Given the description of an element on the screen output the (x, y) to click on. 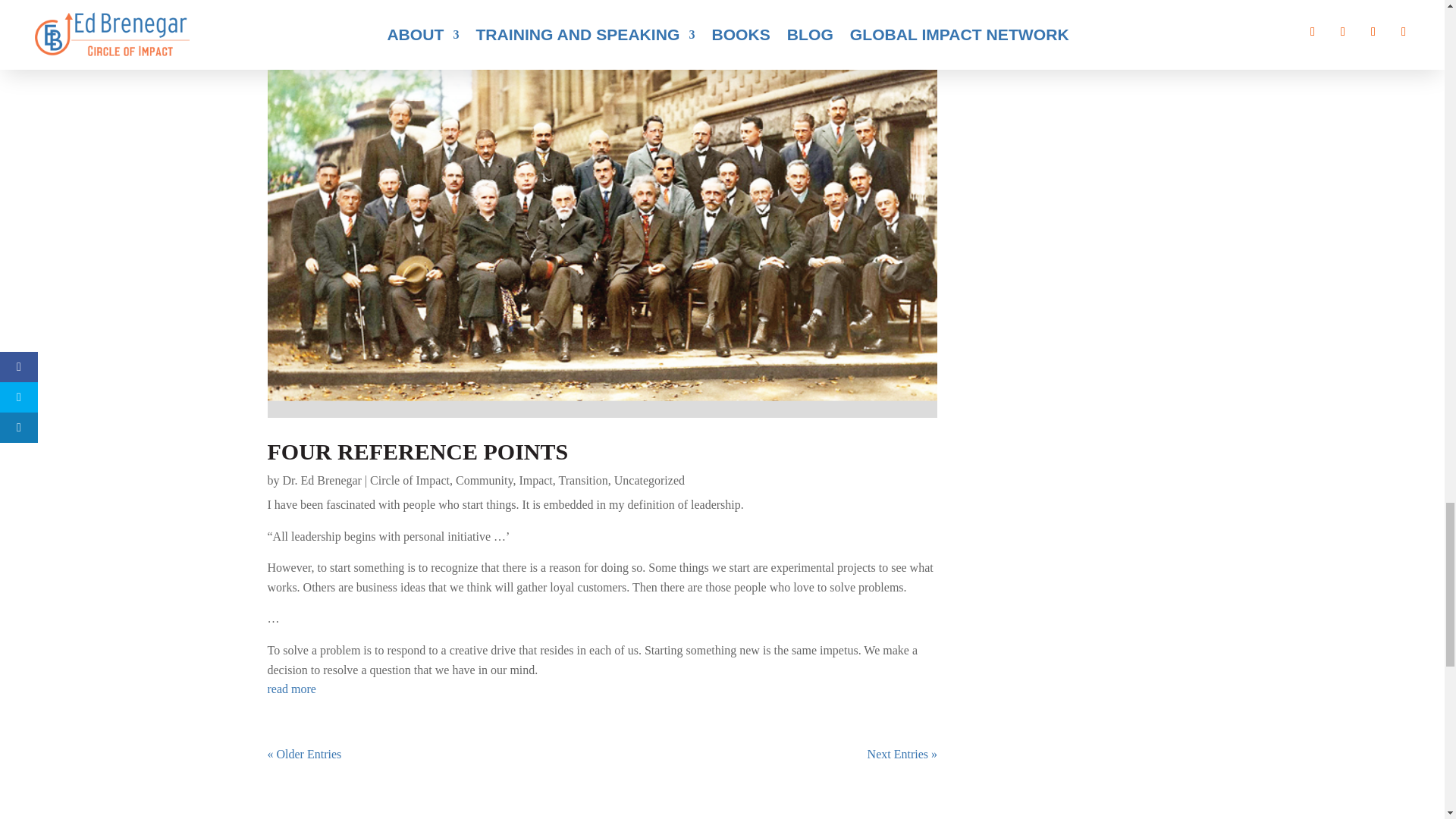
Posts by Dr. Ed Brenegar (321, 480)
